Given the description of an element on the screen output the (x, y) to click on. 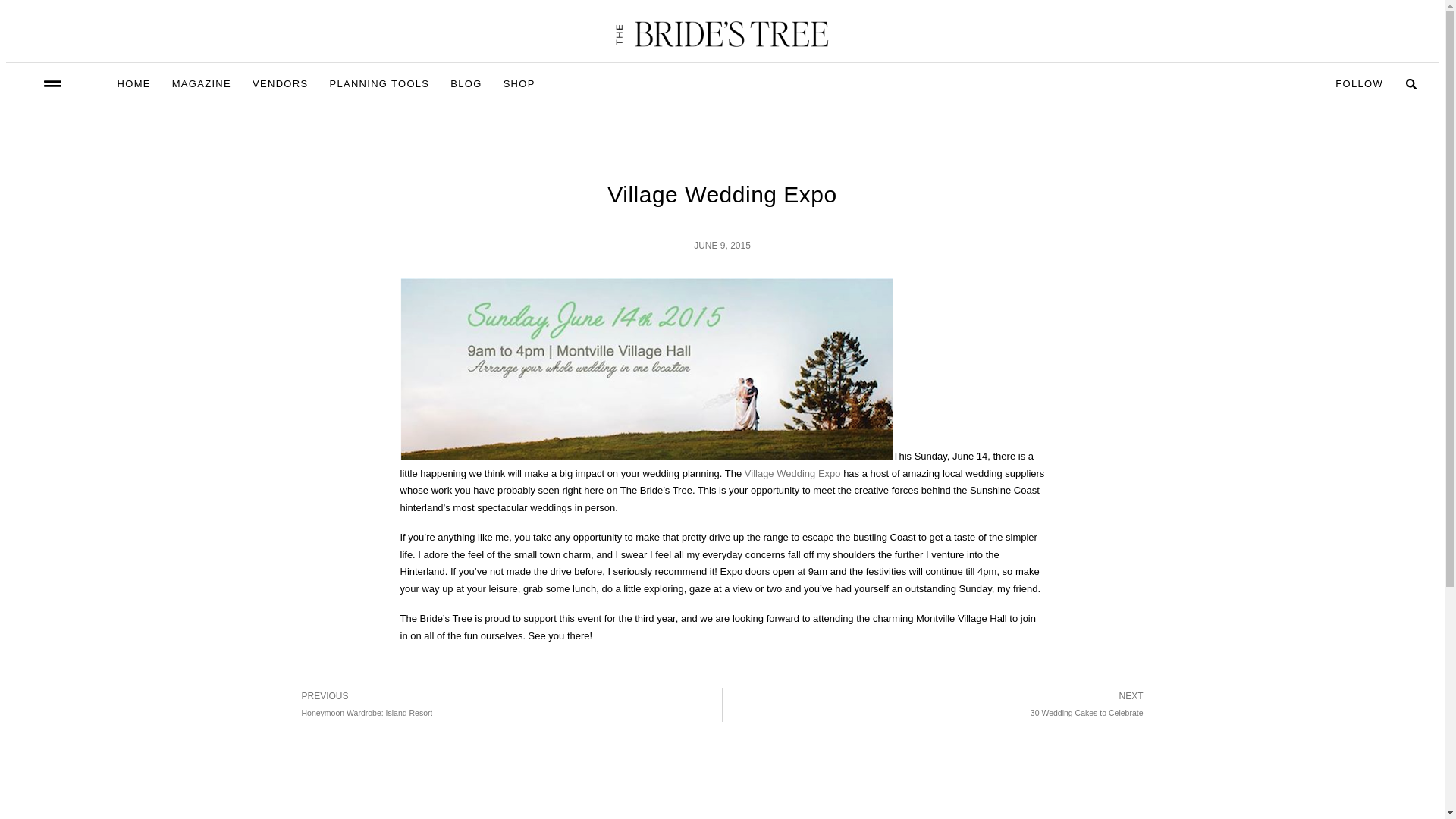
SHOP (519, 83)
BLOG (505, 704)
Village Wedding Expo (465, 83)
HOME (792, 473)
MAGAZINE (133, 83)
JUNE 9, 2015 (201, 83)
PLANNING TOOLS (722, 245)
FOLLOW (378, 83)
